Given the description of an element on the screen output the (x, y) to click on. 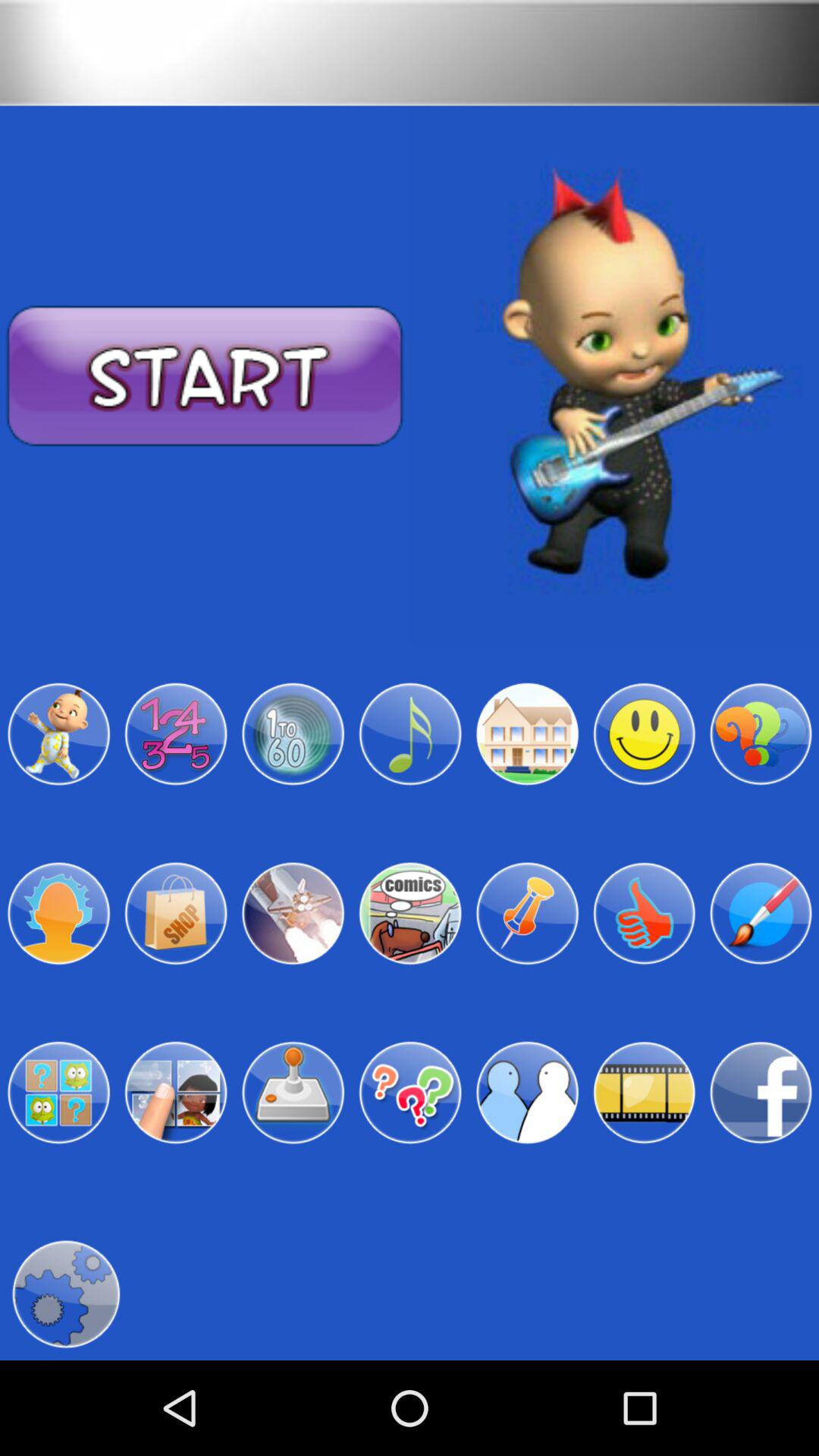
choose avatar (58, 913)
